Given the description of an element on the screen output the (x, y) to click on. 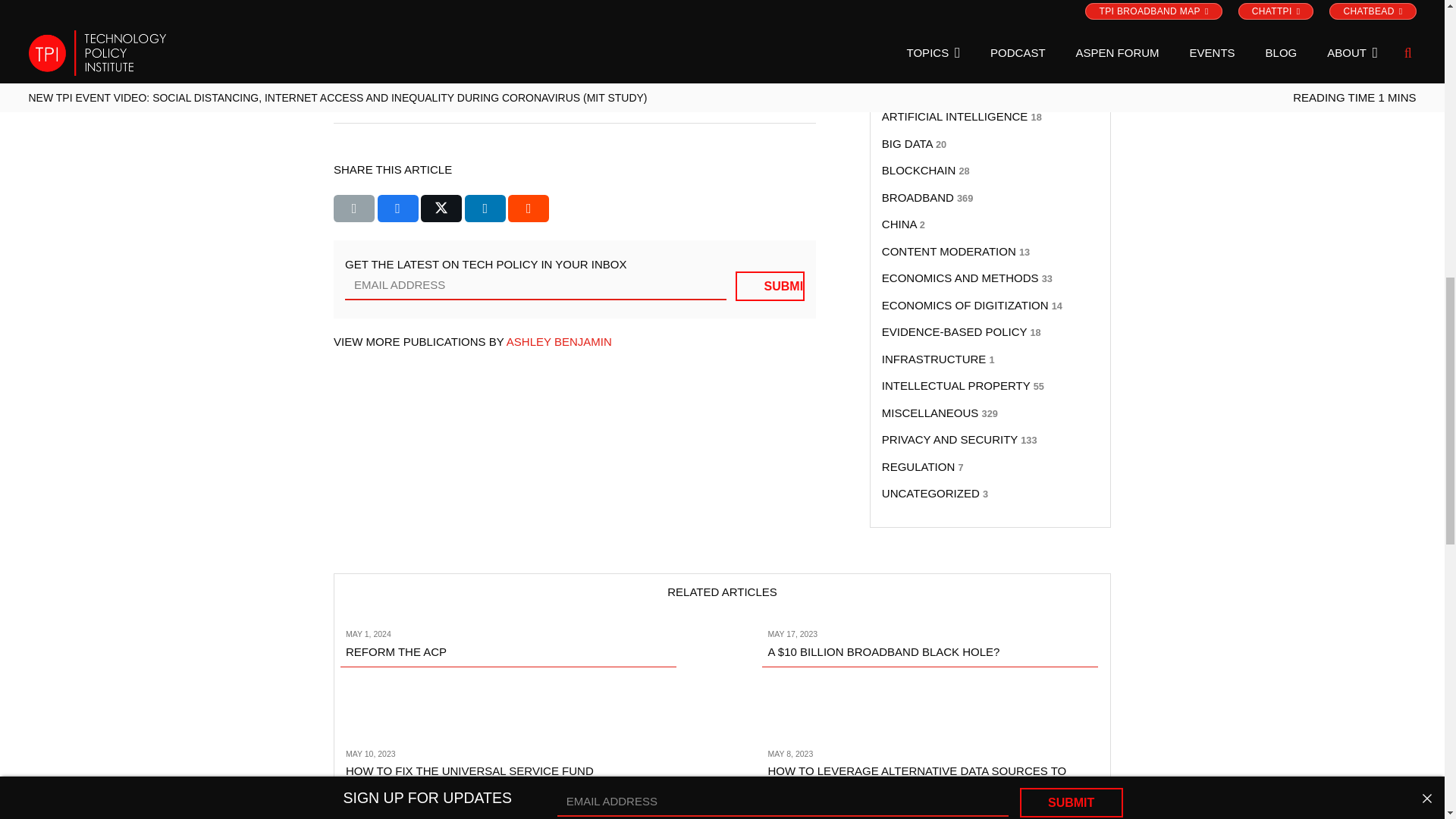
Email this (353, 207)
Submit (770, 286)
Tweet this (440, 207)
Share this (484, 207)
Share this (528, 207)
Share this (398, 207)
Back to top (1415, 20)
